Given the description of an element on the screen output the (x, y) to click on. 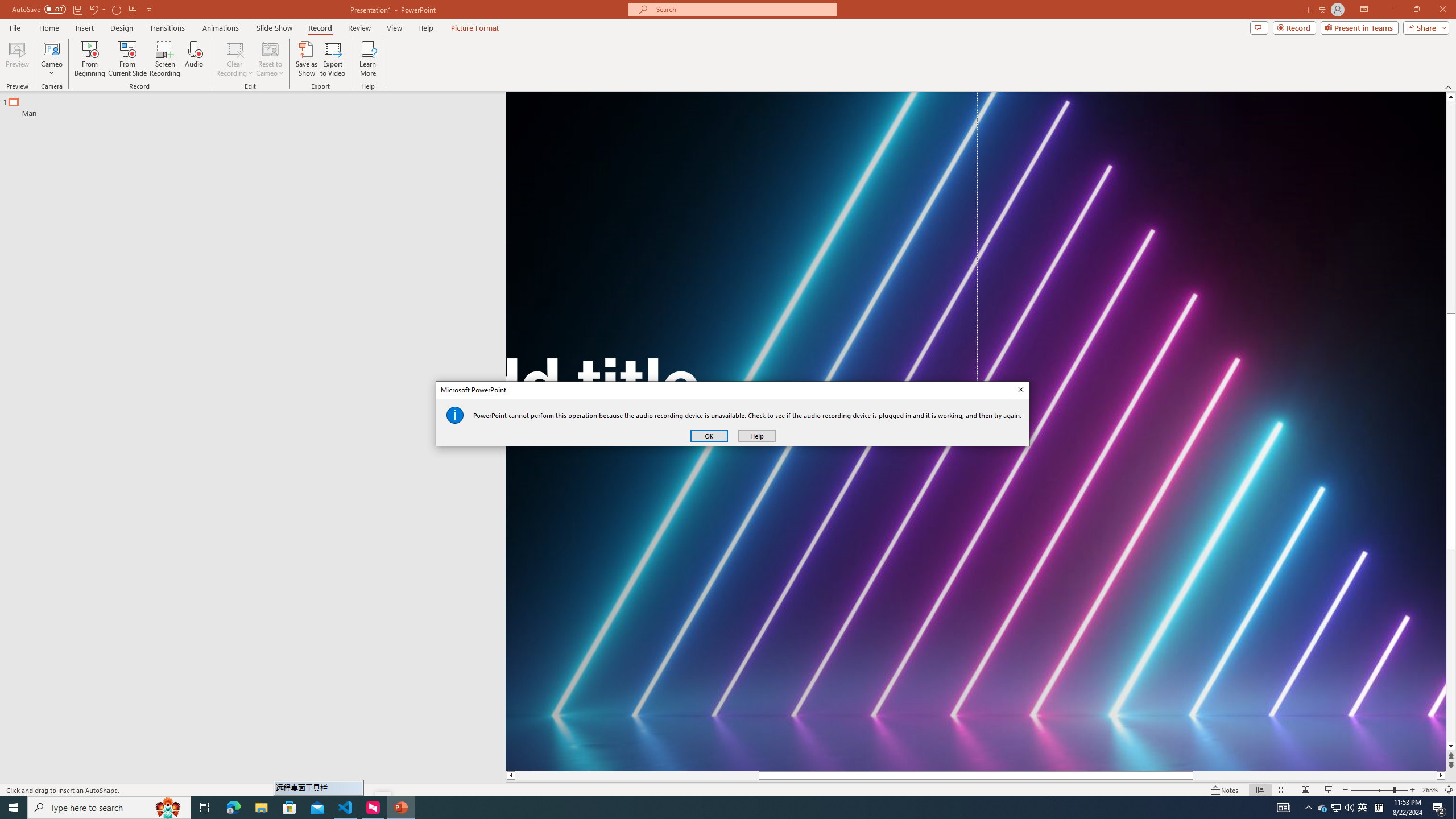
Zoom 268% (1430, 790)
